Given the description of an element on the screen output the (x, y) to click on. 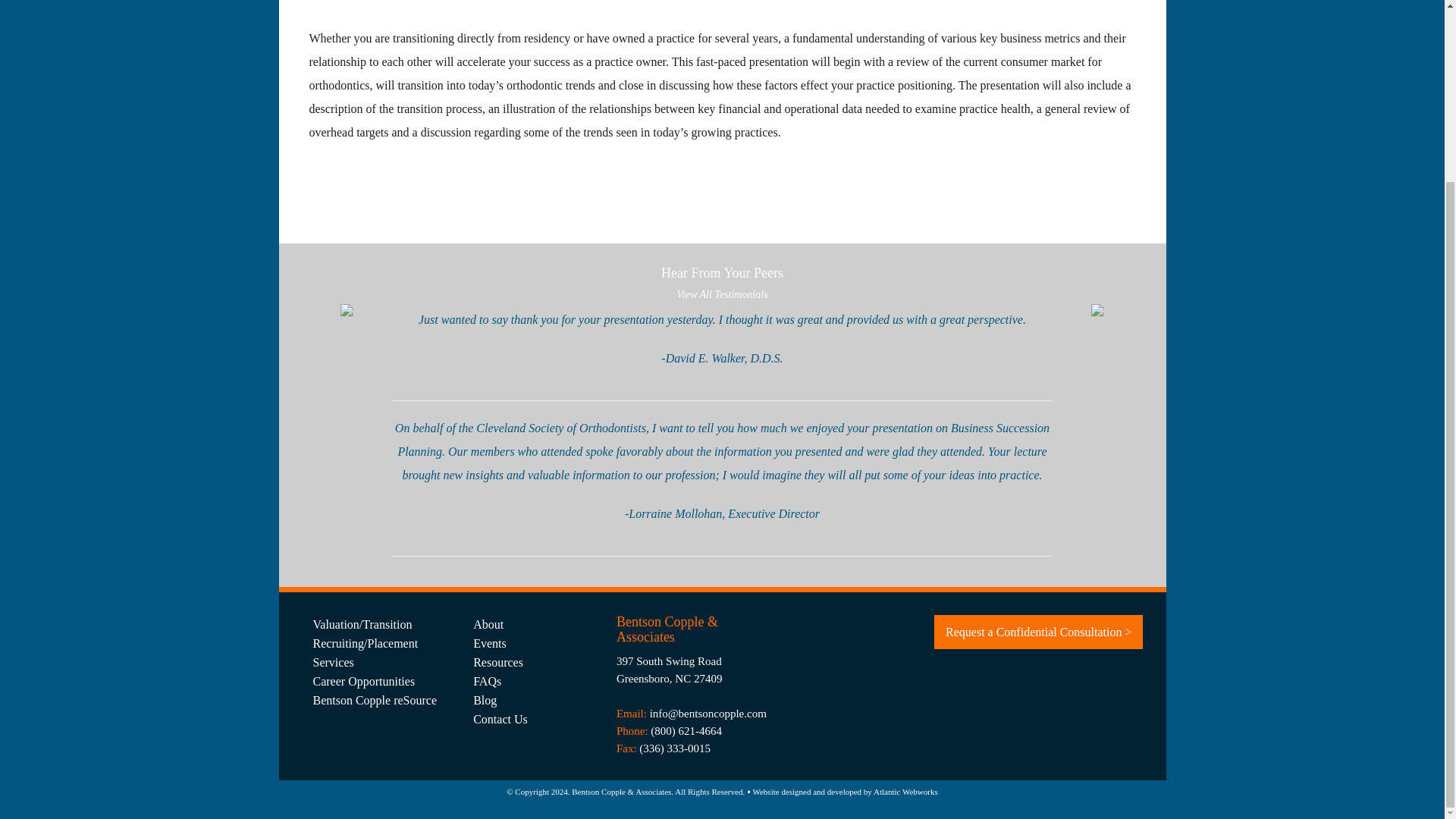
Career Opportunities (381, 681)
View All Testimonials (722, 294)
Bentson Copple reSource (381, 700)
